Given the description of an element on the screen output the (x, y) to click on. 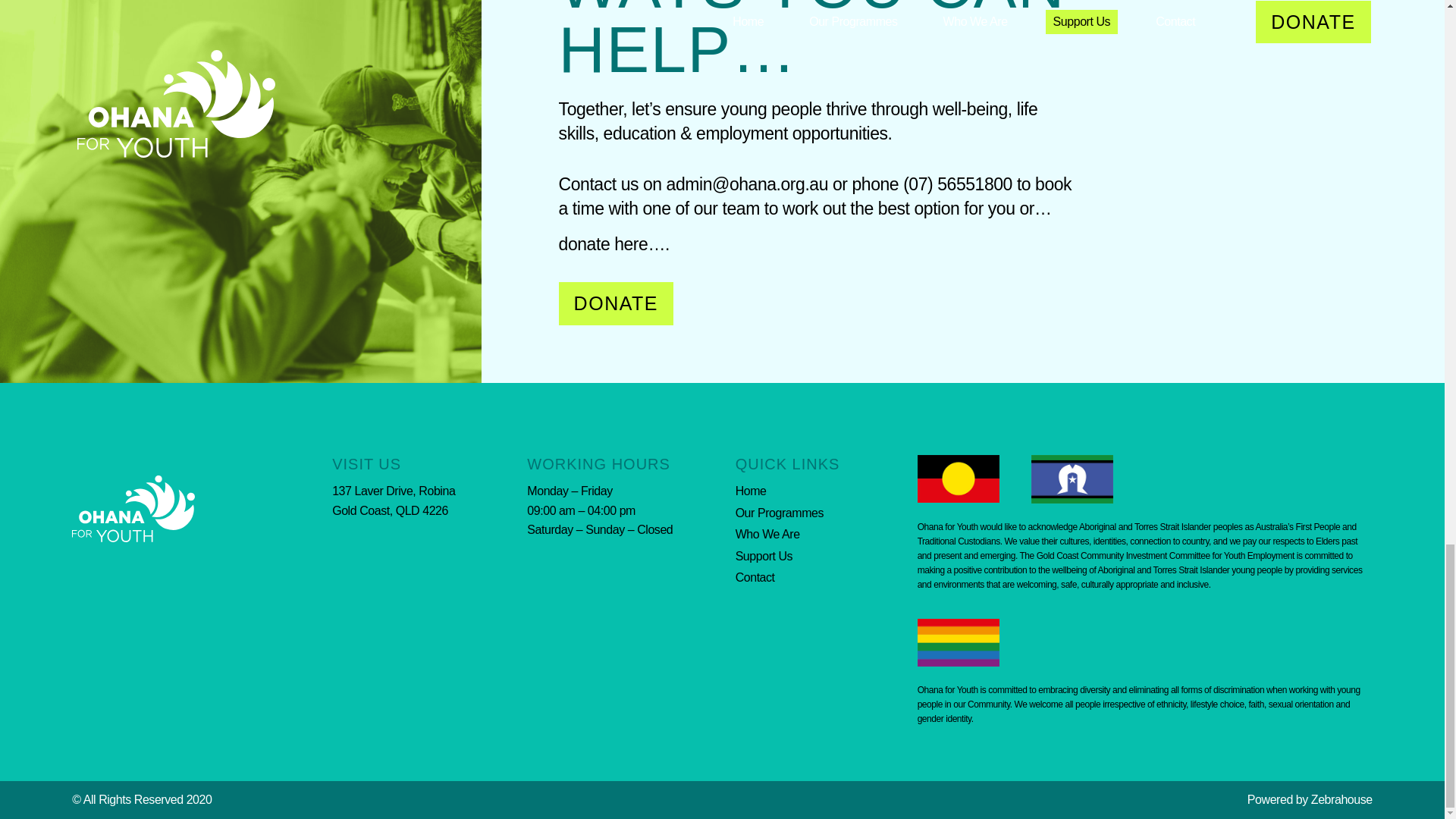
Home (826, 491)
Support Us (826, 556)
DONATE (616, 303)
Who We Are (826, 534)
Our Programmes (826, 513)
Powered by Zebrahouse (1310, 799)
Contact (826, 578)
